Given the description of an element on the screen output the (x, y) to click on. 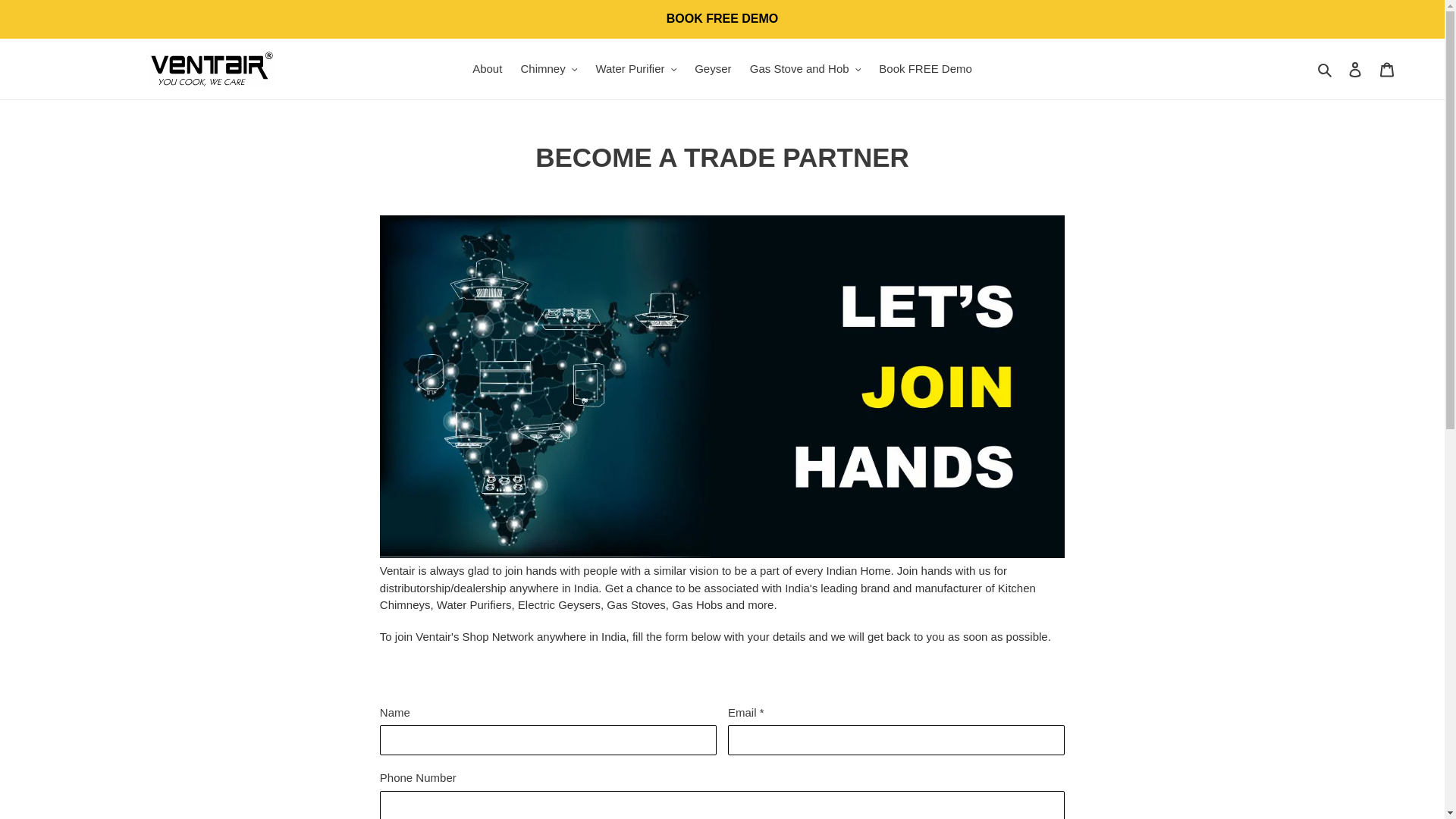
Chimney (549, 69)
Book FREE Demo (924, 69)
Log in (1355, 69)
Search (1326, 68)
BOOK FREE DEMO (721, 18)
Water Purifier (636, 69)
Geyser (712, 69)
Gas Stove and Hob (804, 69)
About (486, 69)
Cart (1387, 69)
